Given the description of an element on the screen output the (x, y) to click on. 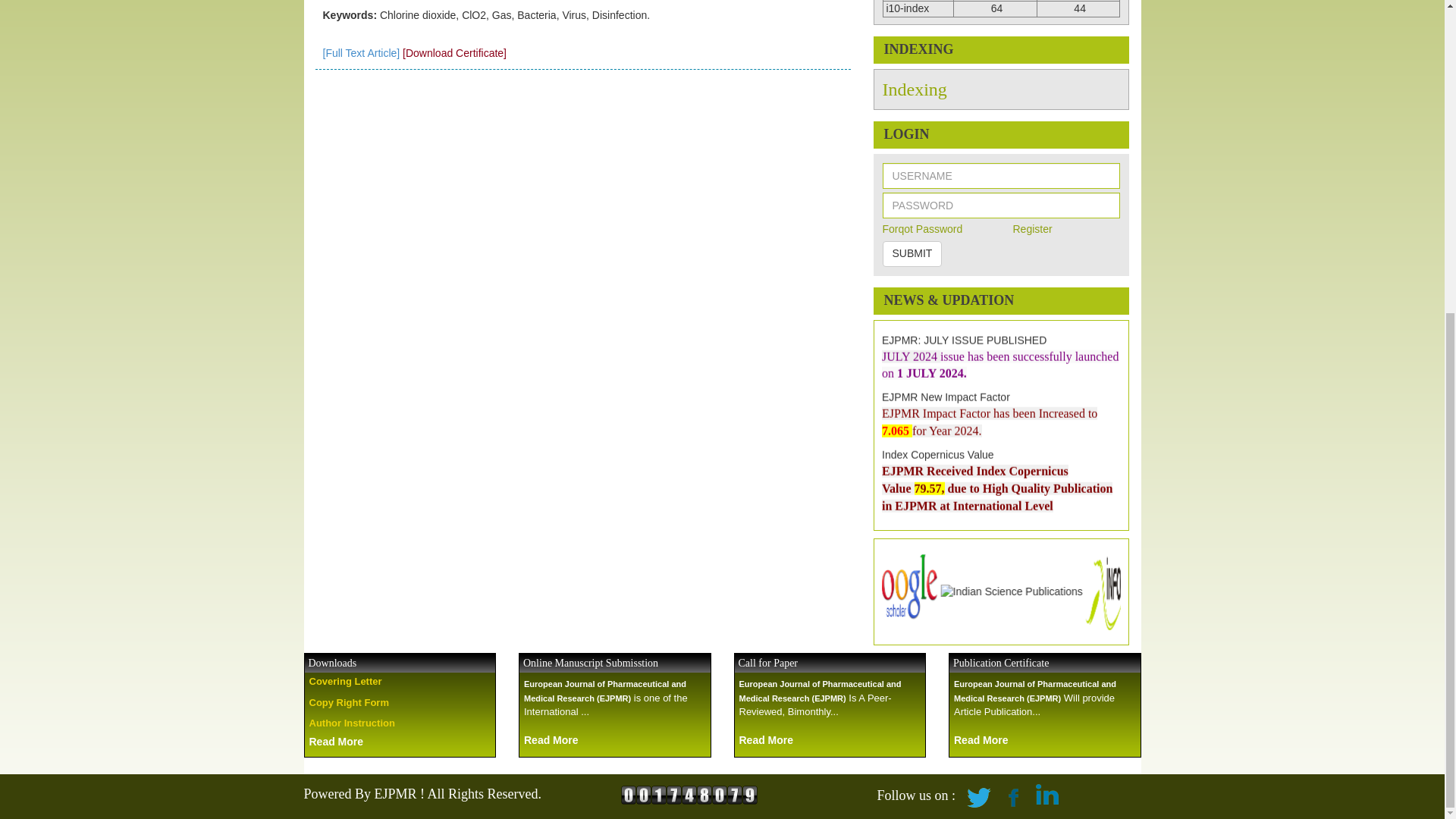
Read More (550, 740)
Read More (766, 740)
SUBMIT (912, 253)
Register (1031, 228)
Read More (980, 740)
EJPMR (688, 794)
Indexing (914, 89)
Copy Right Form (348, 702)
EJPMR (650, 793)
Covering Letter (344, 681)
Author Instruction (351, 722)
Forqot Password (922, 228)
Read More (335, 742)
